Given the description of an element on the screen output the (x, y) to click on. 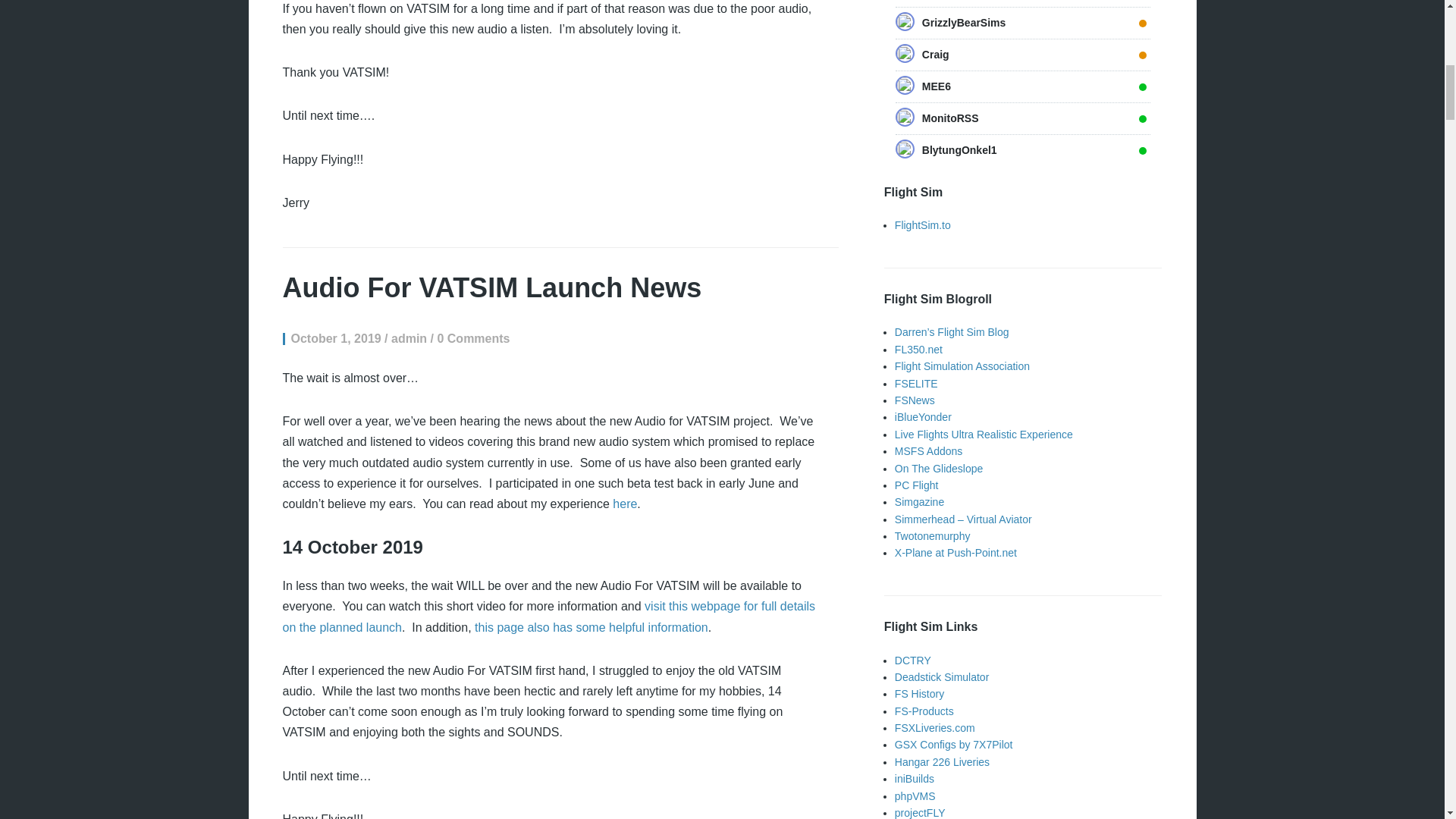
here (624, 503)
visit this webpage for full details on the planned launch (548, 616)
this page also has some helpful information (590, 626)
Audio For VATSIM Launch News (491, 287)
